Given the description of an element on the screen output the (x, y) to click on. 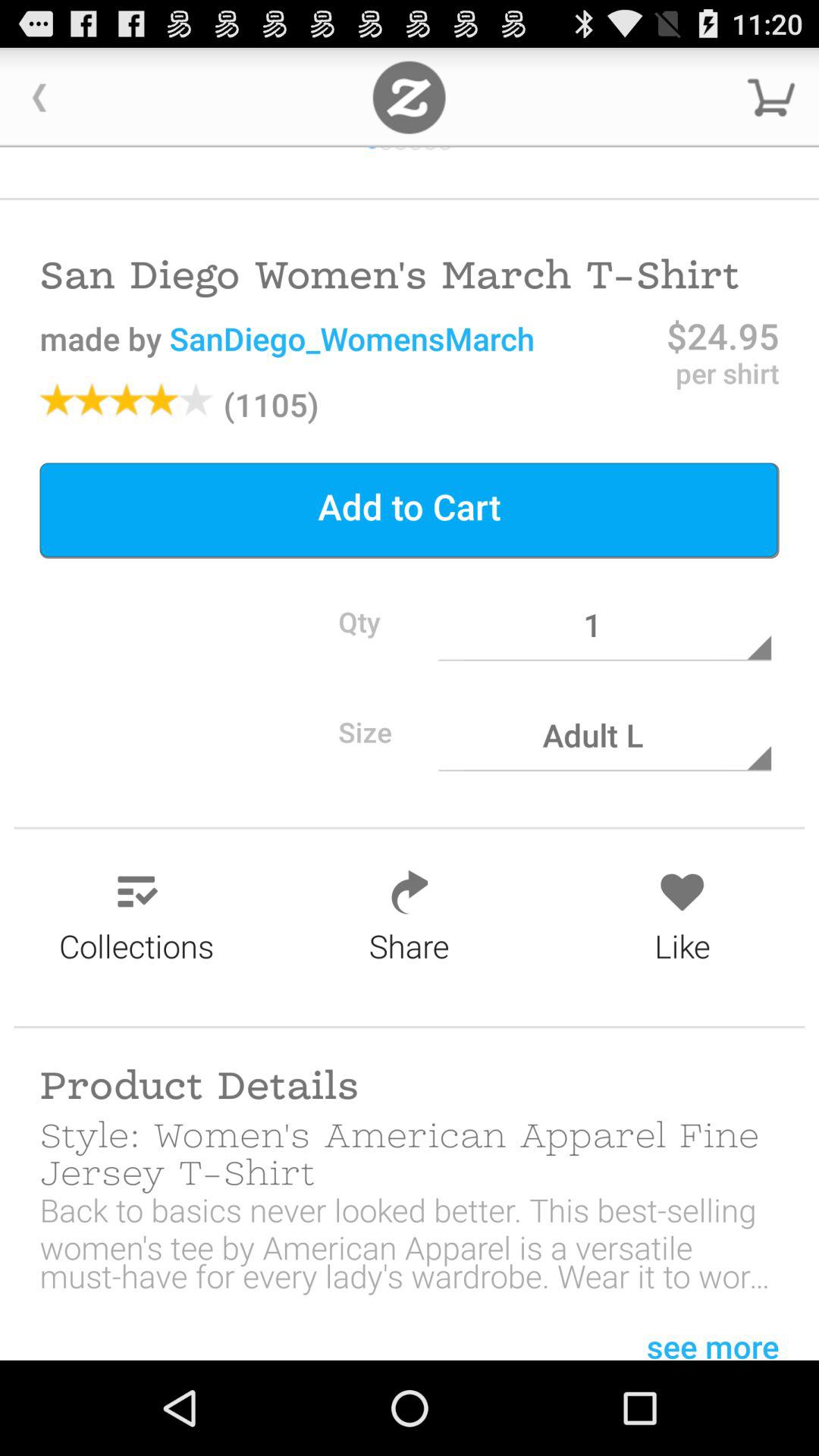
downarrow (771, 97)
